Given the description of an element on the screen output the (x, y) to click on. 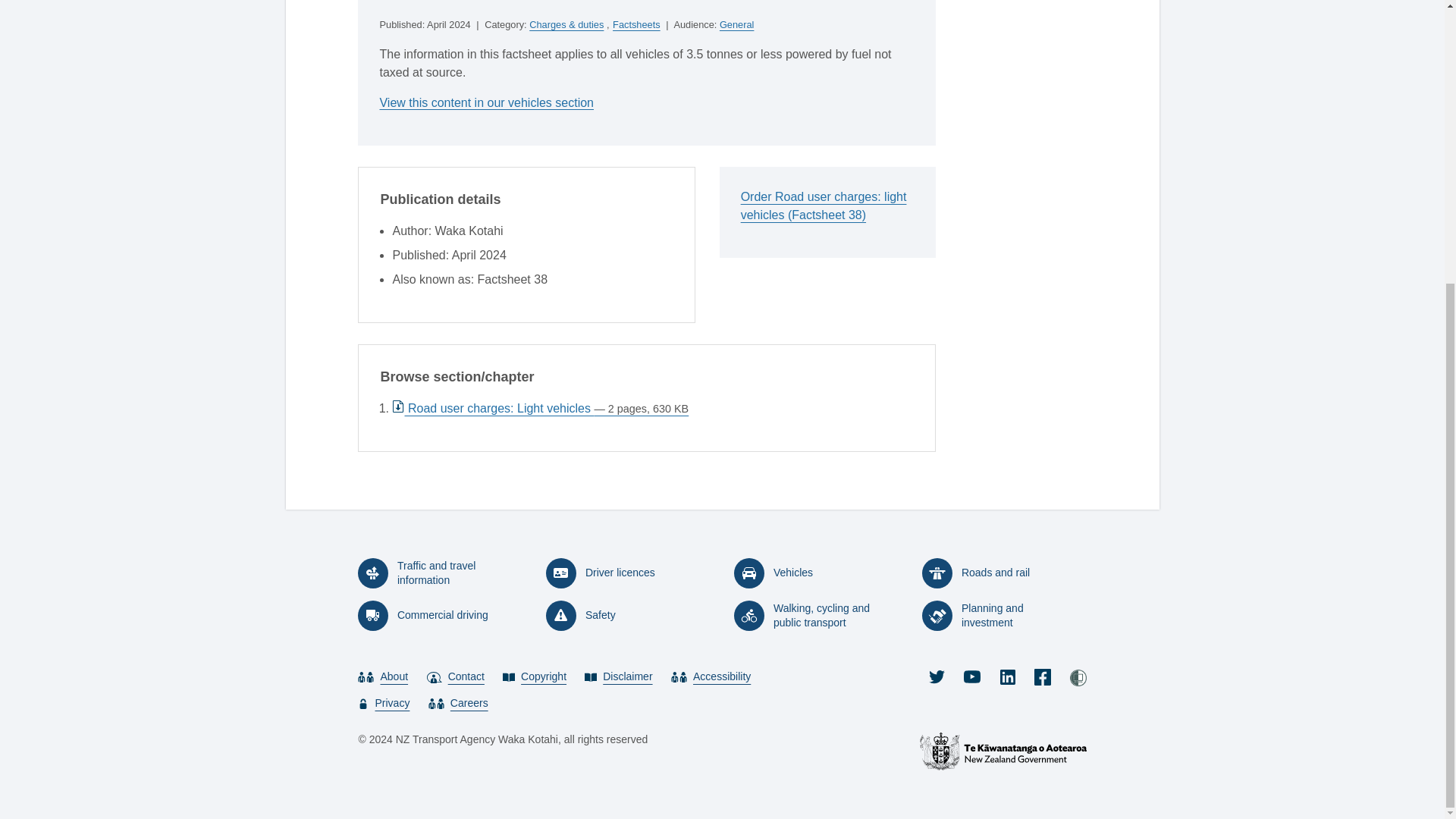
Road user charges: Light vehicles (539, 408)
Road user charges (486, 102)
